Given the description of an element on the screen output the (x, y) to click on. 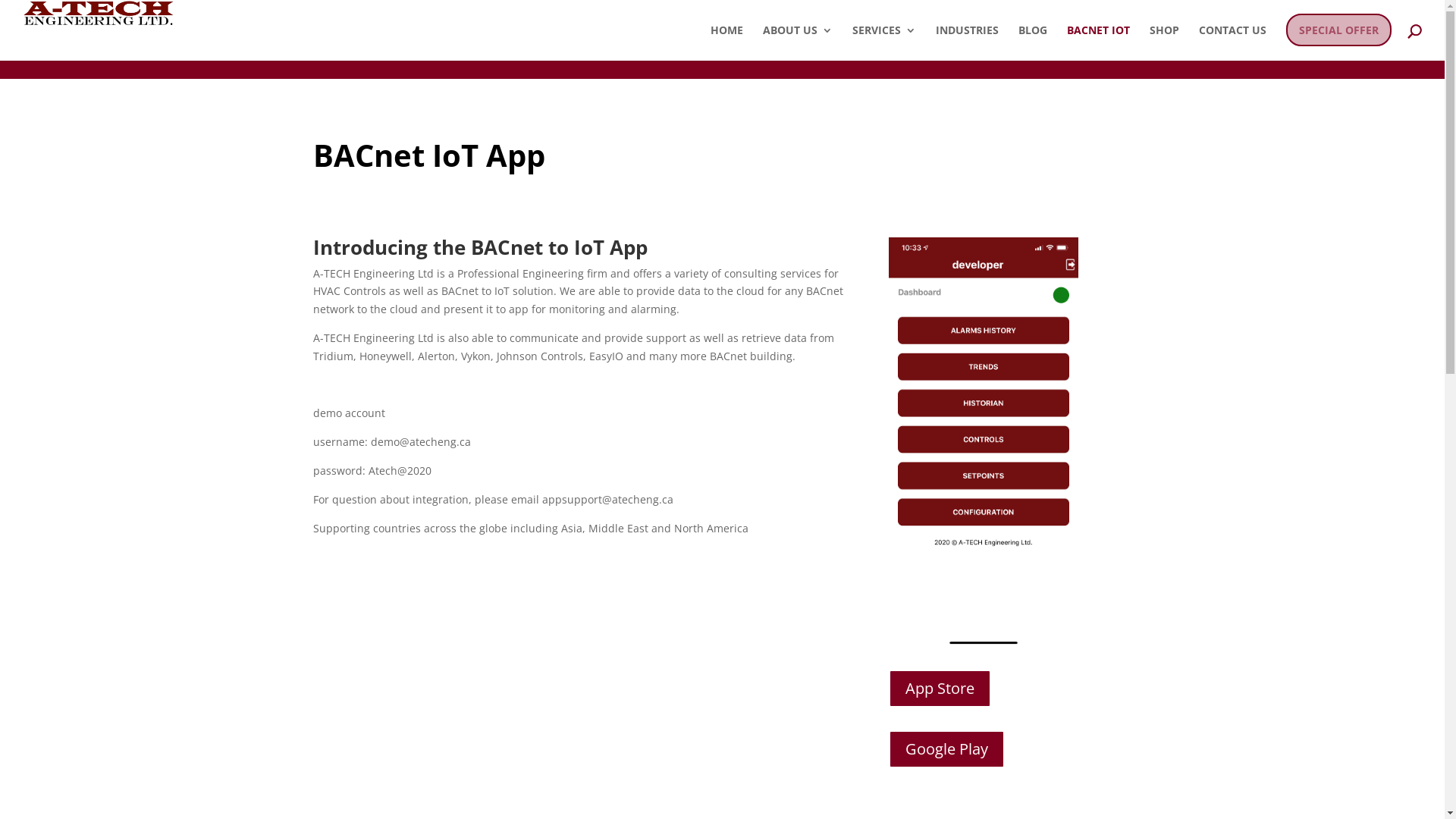
BLOG Element type: text (1032, 42)
HOME Element type: text (726, 42)
INDUSTRIES Element type: text (966, 42)
ABOUT US Element type: text (797, 42)
SERVICES Element type: text (884, 42)
App Store Element type: text (939, 688)
Google Play Element type: text (946, 749)
CONTACT US Element type: text (1232, 42)
BACNET IOT Element type: text (1097, 42)
SPECIAL OFFER Element type: text (1338, 42)
SHOP Element type: text (1164, 42)
